Given the description of an element on the screen output the (x, y) to click on. 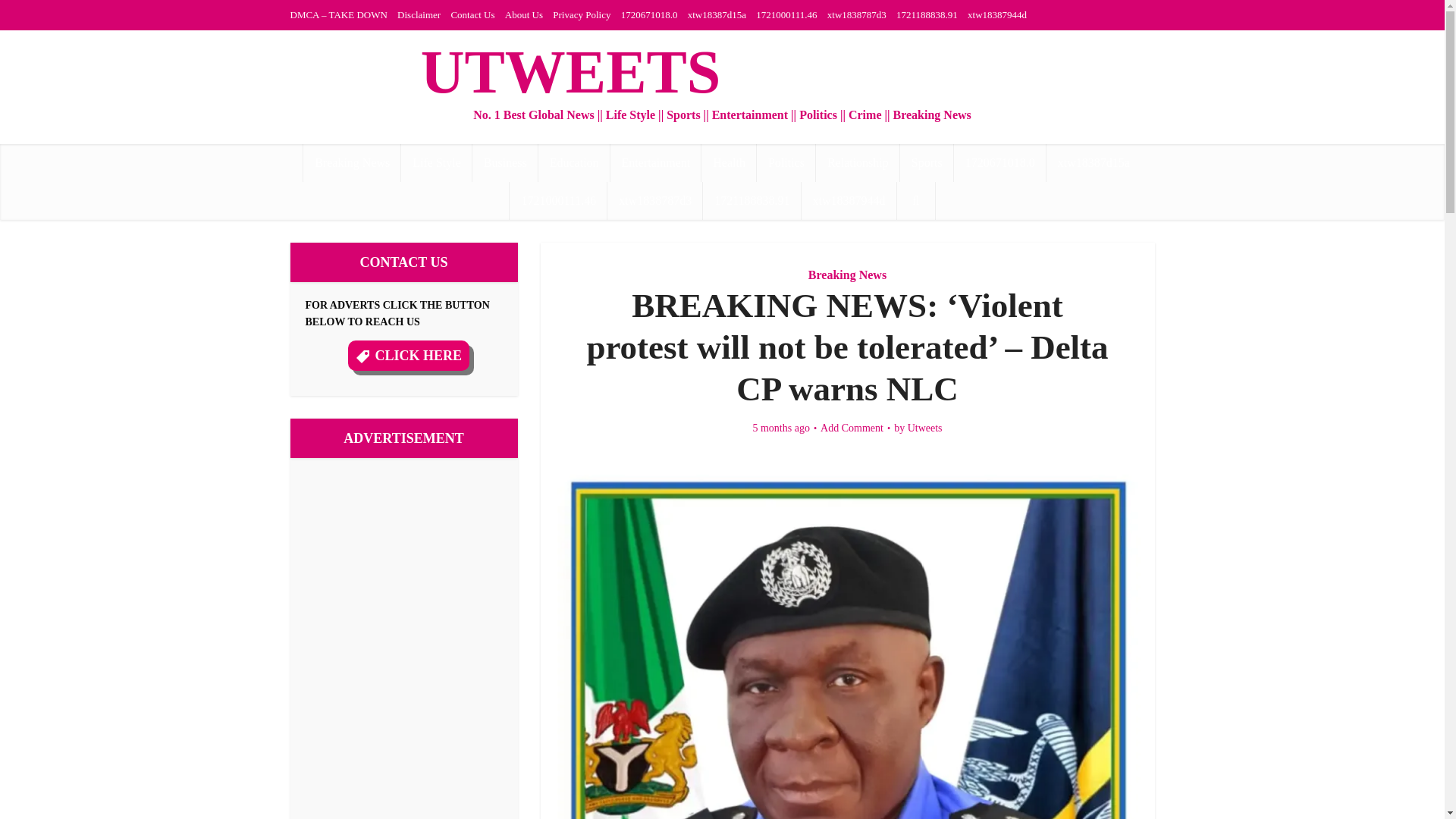
Health (729, 162)
Breaking News (351, 162)
1720671018.0 (649, 14)
Disclaimer (419, 14)
xtw1838787d3 (856, 14)
xtw1838787d3 (655, 200)
Relationship (857, 162)
1721000111.46 (785, 14)
UTWEETS (570, 71)
xtw18387944d (849, 200)
1721188838.91 (927, 14)
Education (574, 162)
Privacy Policy (581, 14)
Politics (786, 162)
xtw18387d15a (1093, 162)
